Given the description of an element on the screen output the (x, y) to click on. 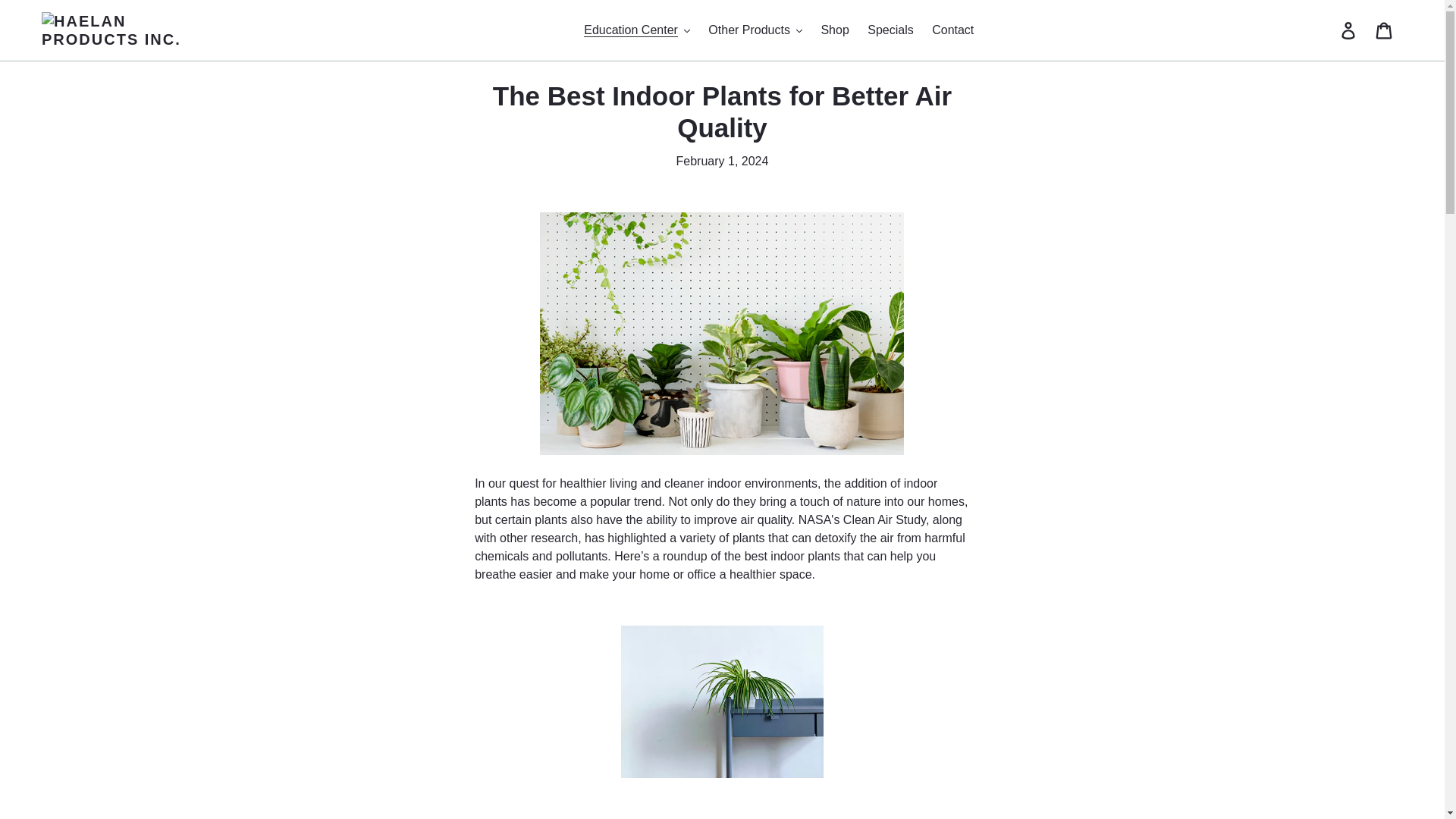
Contact (952, 29)
Cart (1385, 29)
Log in (1349, 29)
Shop (834, 29)
Specials (890, 29)
